Given the description of an element on the screen output the (x, y) to click on. 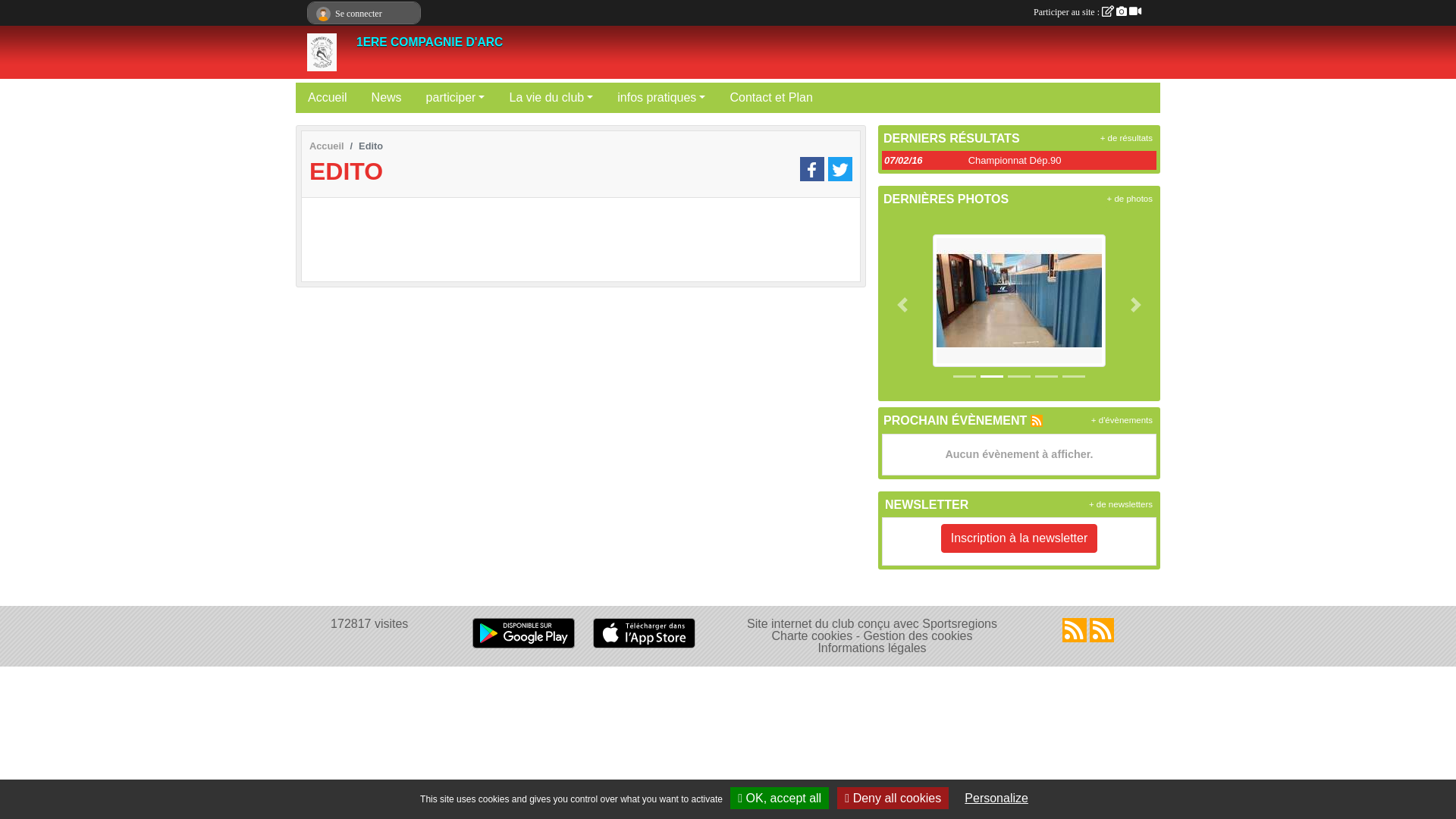
Participer au site : Element type: text (1087, 11)
Charte cookies Element type: text (811, 635)
Se connecter Element type: text (363, 13)
infos pratiques Element type: text (661, 97)
07/02/16 Element type: text (903, 160)
Twitter Element type: hover (840, 169)
Personalize Element type: text (996, 798)
Contact et Plan Element type: text (770, 97)
Gestion des cookies Element type: text (917, 635)
Accueil Element type: text (326, 145)
NATURE INDOOR 08 02 2020 Element type: hover (1018, 299)
Accueil Element type: text (327, 97)
Suivant Element type: text (1135, 304)
+ de newsletters Element type: text (1120, 503)
Facebook Element type: hover (812, 169)
News Element type: text (386, 97)
La vie du club Element type: text (550, 97)
participer Element type: text (455, 97)
1ERE COMPAGNIE D'ARC Element type: text (429, 41)
+ de photos Element type: text (1129, 198)
